Given the description of an element on the screen output the (x, y) to click on. 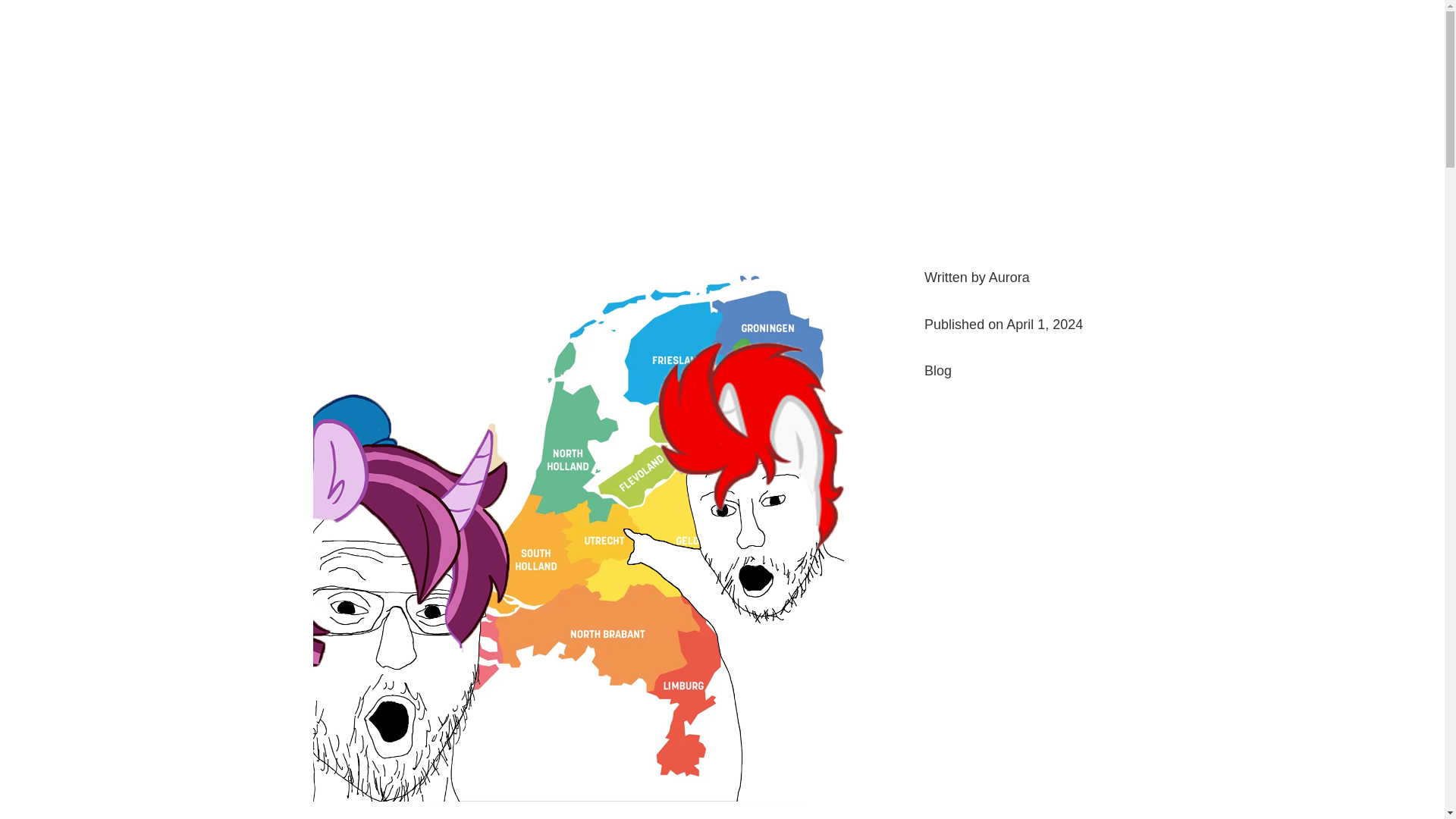
The Event (620, 41)
Blog (938, 370)
About us (786, 41)
Tickets (555, 41)
Contact (932, 41)
Applications (705, 41)
